Given the description of an element on the screen output the (x, y) to click on. 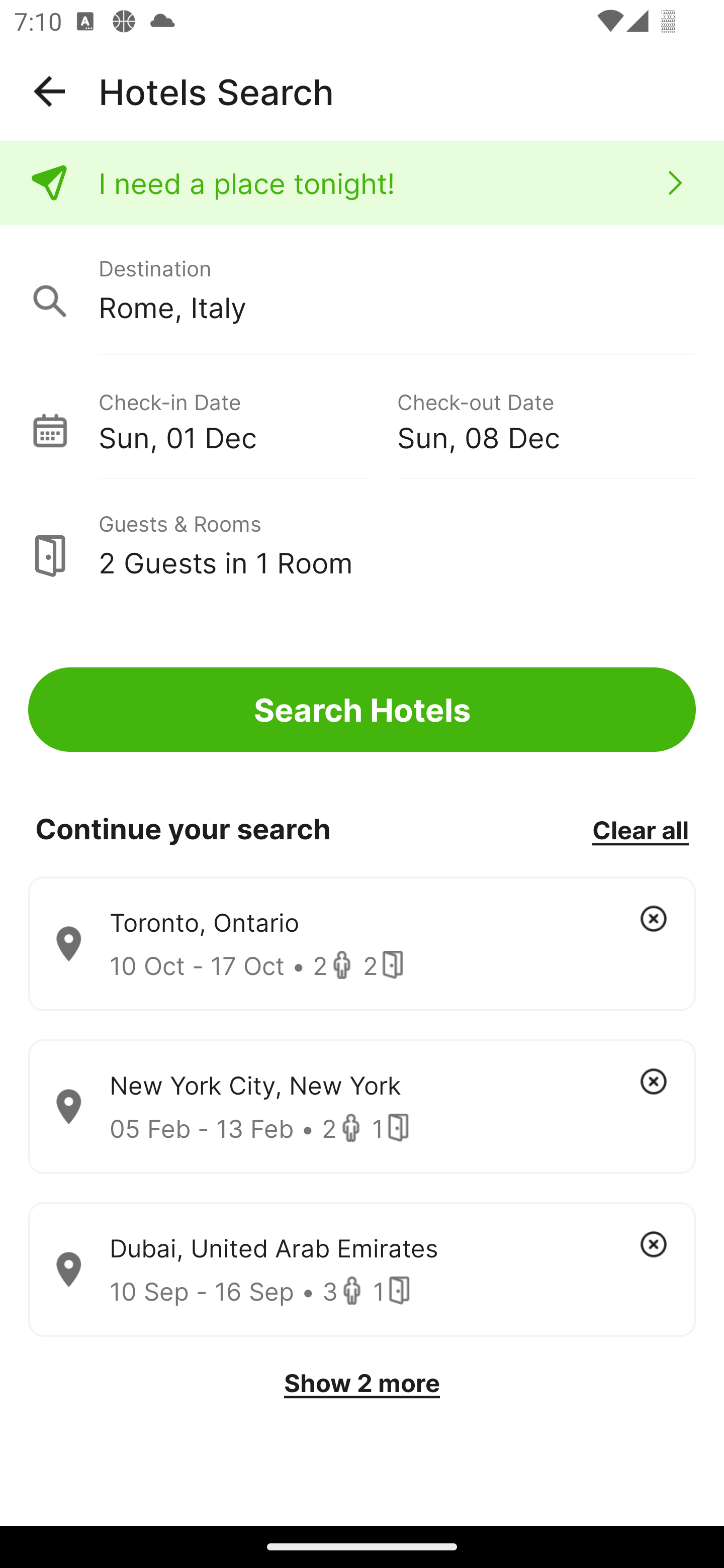
I need a place tonight! (362, 183)
Destination Rome, Italy (362, 290)
Check-in Date Sun, 01 Dec (247, 418)
Check-out Date Sun, 08 Dec (546, 418)
Guests & Rooms 2 Guests in 1 Room (362, 545)
Search Hotels (361, 709)
Clear all (640, 829)
Toronto, Ontario 10 Oct - 17 Oct • 2  2  (361, 943)
New York City, New York 05 Feb - 13 Feb • 2  1  (361, 1106)
Show 2 more (362, 1382)
